Given the description of an element on the screen output the (x, y) to click on. 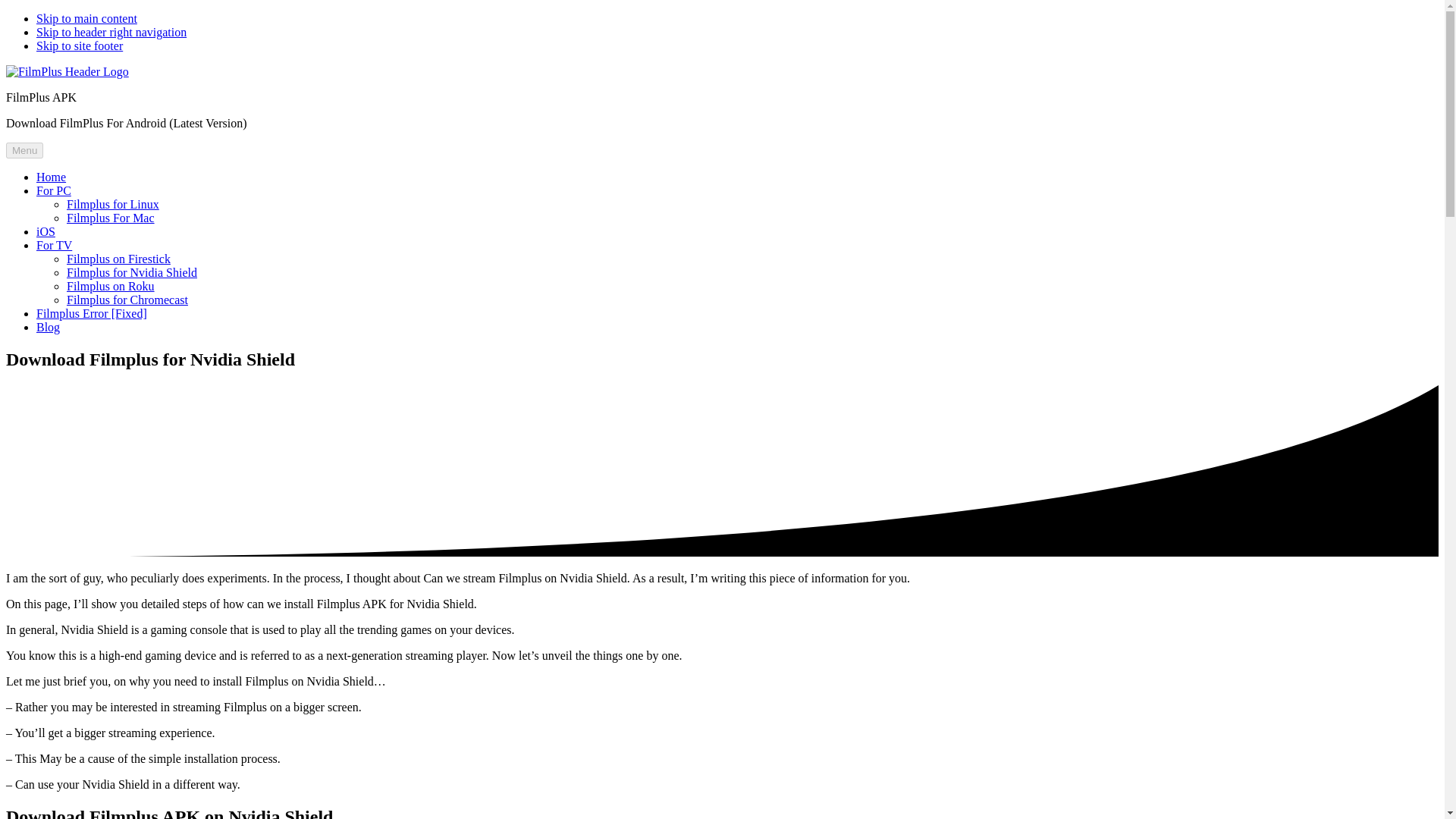
Filmplus for Nvidia Shield (131, 272)
Filmplus For Mac (110, 217)
Filmplus for Chromecast (126, 299)
Filmplus for Linux (112, 204)
For TV (53, 245)
Skip to main content (86, 18)
iOS (45, 231)
For PC (53, 190)
Blog (47, 327)
Menu (24, 150)
Skip to site footer (79, 45)
Skip to header right navigation (111, 31)
Filmplus on Firestick (118, 258)
Filmplus on Roku (110, 286)
Home (50, 176)
